Given the description of an element on the screen output the (x, y) to click on. 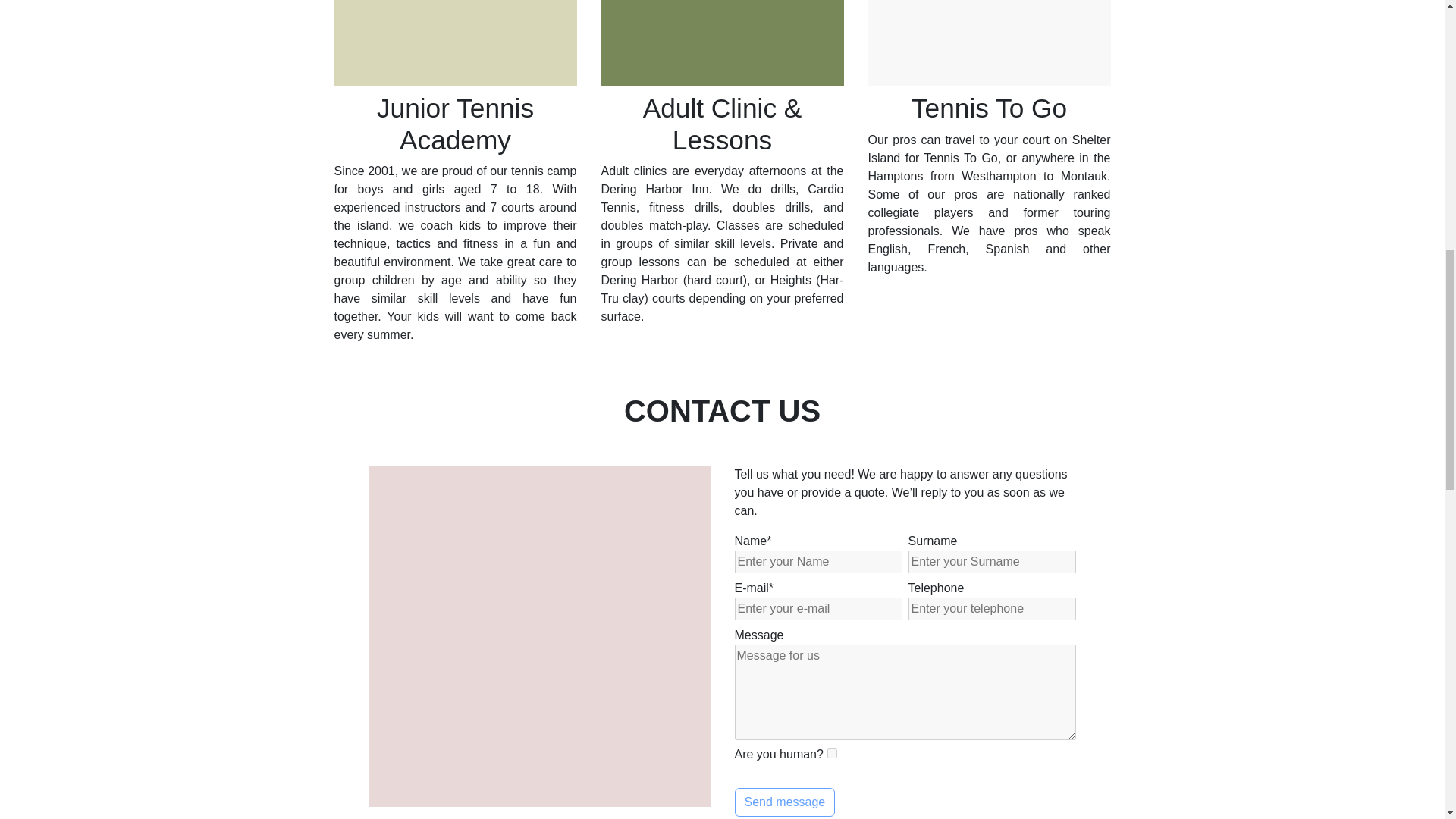
Send message (783, 801)
on (832, 753)
